Given the description of an element on the screen output the (x, y) to click on. 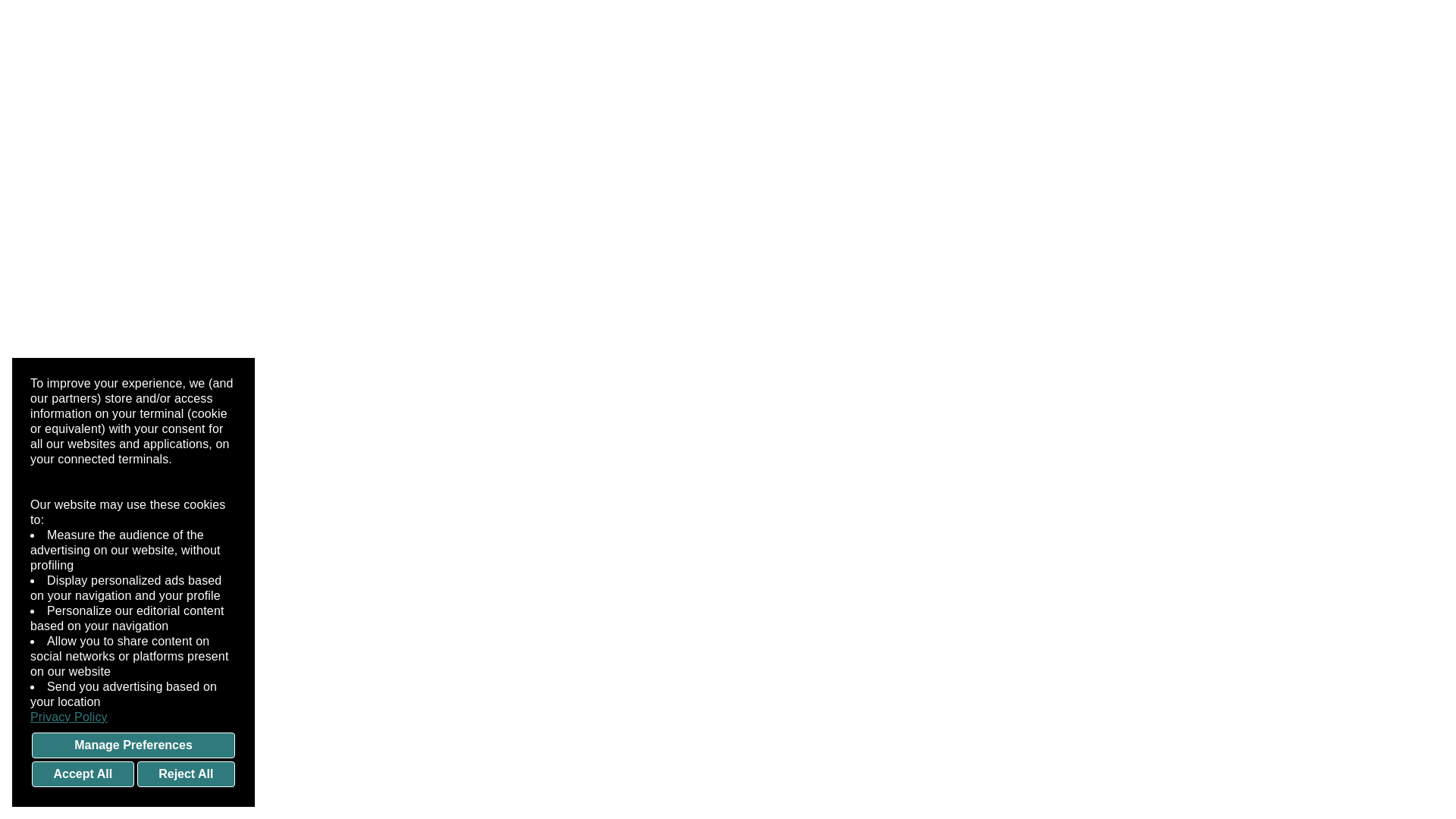
Privacy Policy (132, 717)
Manage Preferences (133, 745)
Accept All (82, 774)
Reject All (185, 774)
